Given the description of an element on the screen output the (x, y) to click on. 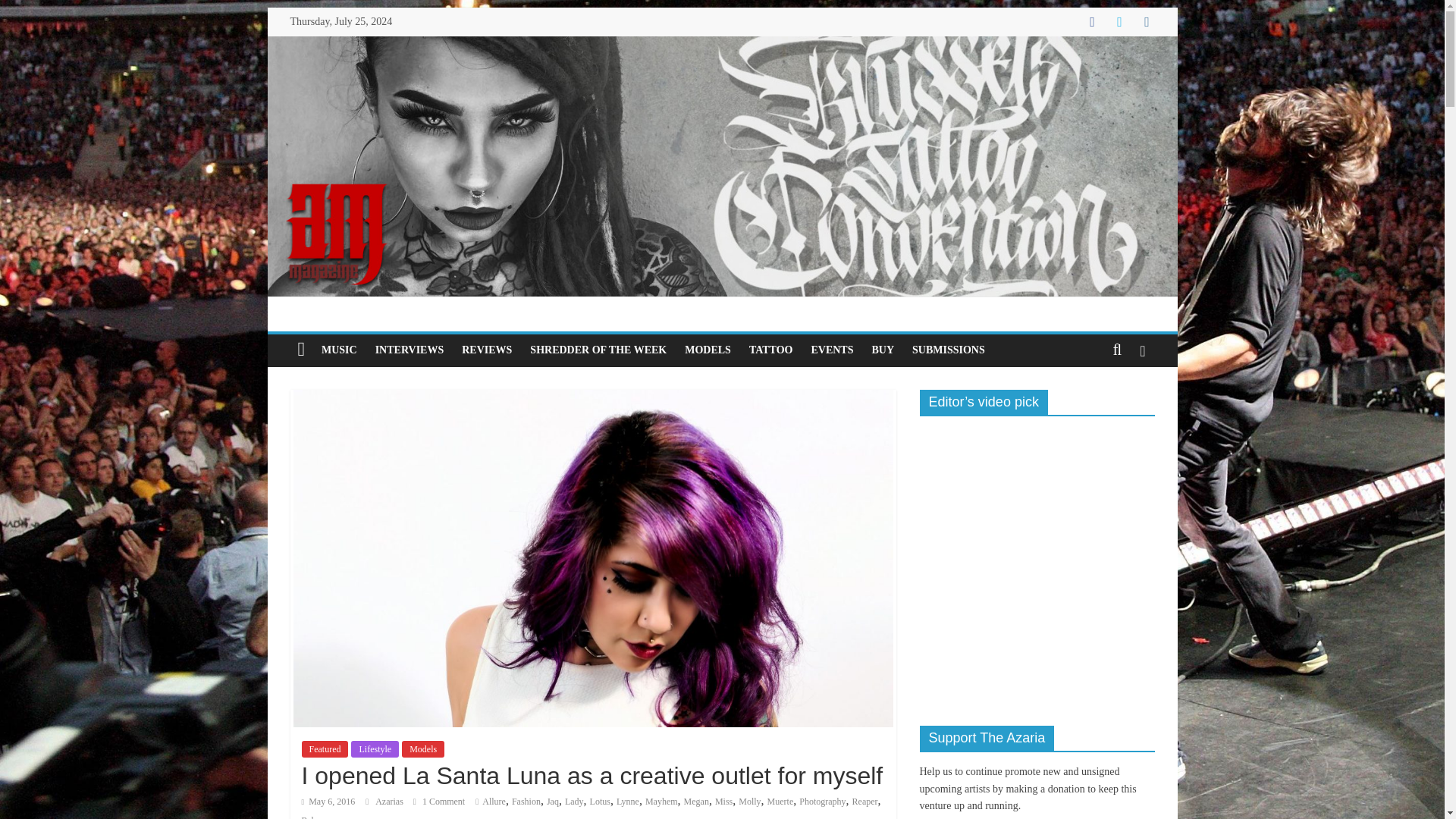
08:36 (328, 801)
AZARIA MAGAZINE (721, 45)
SUBMISSIONS (948, 350)
EVENTS (831, 350)
View a random post (1142, 350)
Megan (696, 801)
Models (422, 749)
BUY (883, 350)
Molly (749, 801)
Mayhem (661, 801)
REVIEWS (486, 350)
Lynne (627, 801)
Jaq (553, 801)
Lotus (599, 801)
May 6, 2016 (328, 801)
